Given the description of an element on the screen output the (x, y) to click on. 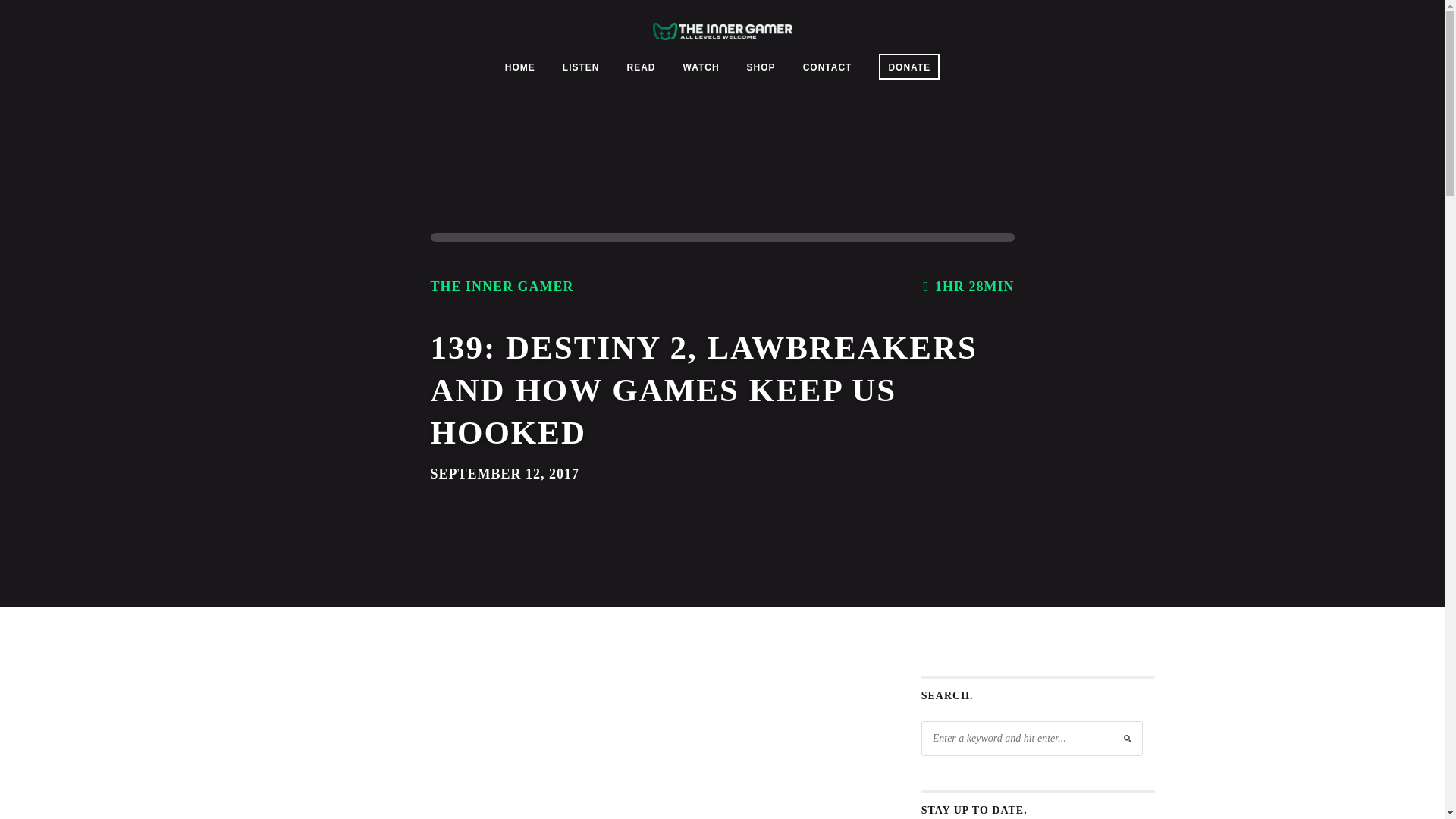
SHOP (761, 69)
WATCH (700, 69)
READ (640, 69)
DONATE (909, 66)
HOME (520, 69)
The Inner Gamer (722, 30)
CONTACT (827, 69)
Search (22, 9)
LISTEN (580, 69)
